Given the description of an element on the screen output the (x, y) to click on. 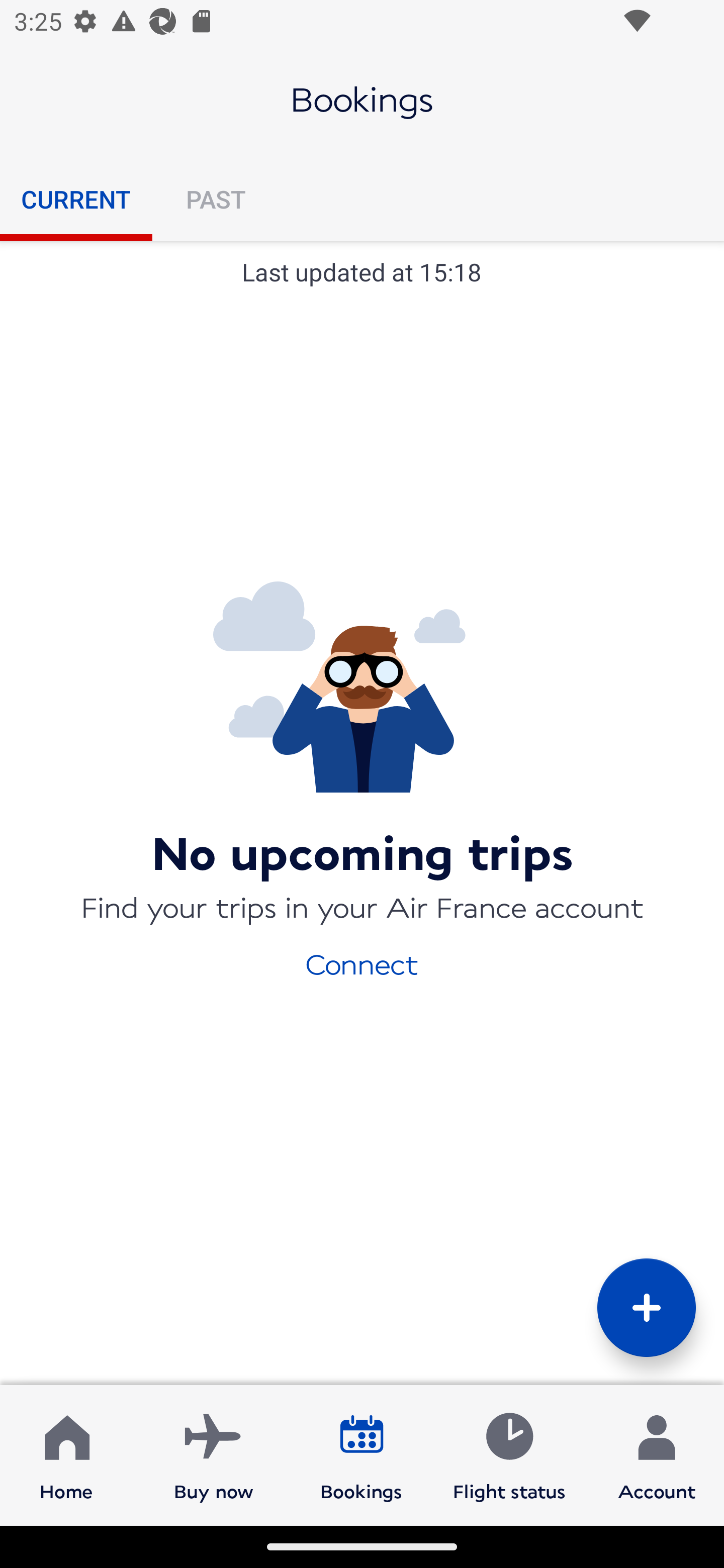
PAST (215, 198)
Connect (361, 963)
Home (66, 1454)
Buy now (213, 1454)
Flight status (509, 1454)
Account (657, 1454)
